Given the description of an element on the screen output the (x, y) to click on. 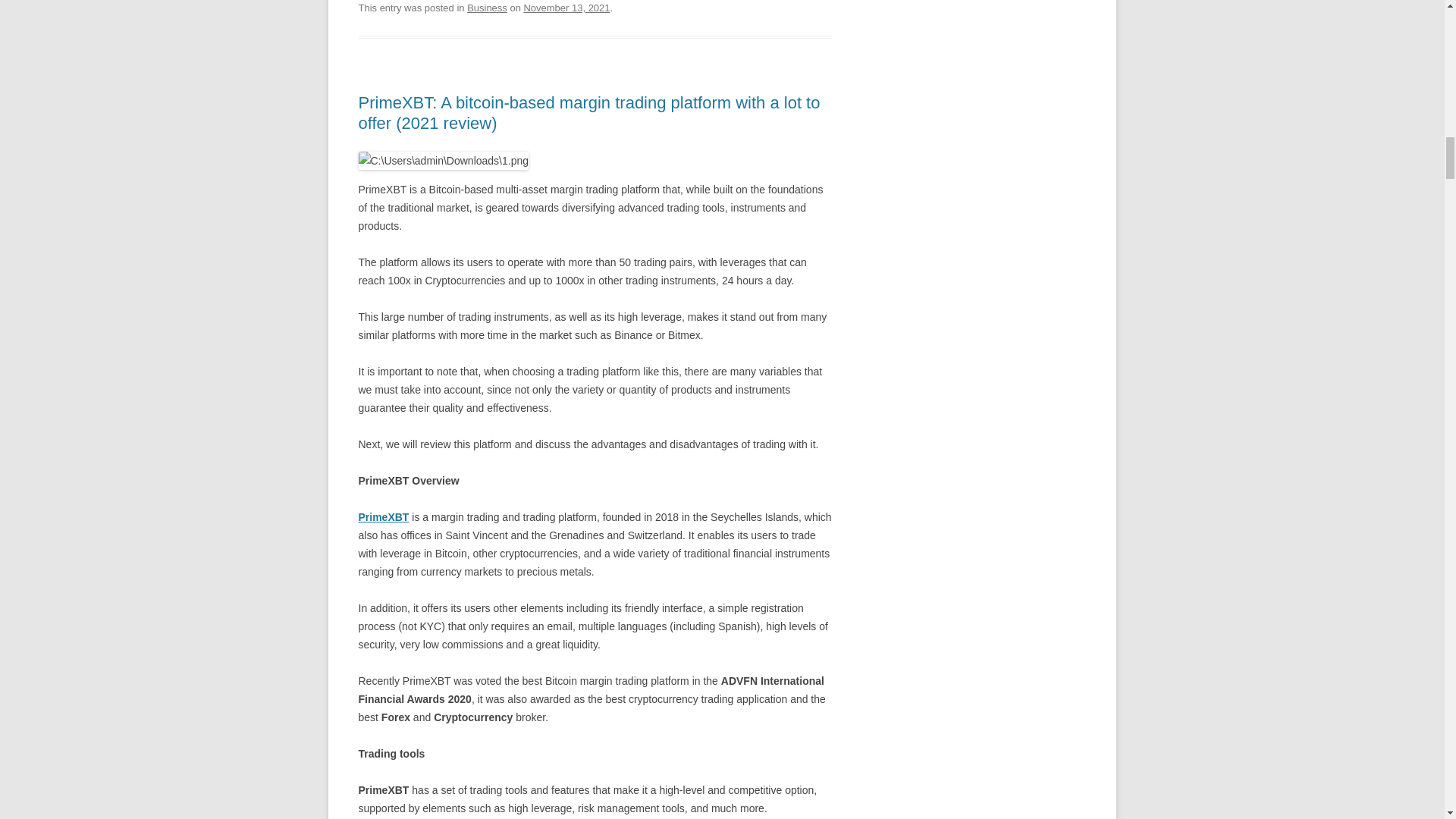
11:46 am (566, 7)
PrimeXBT (383, 517)
Business (486, 7)
November 13, 2021 (566, 7)
